Given the description of an element on the screen output the (x, y) to click on. 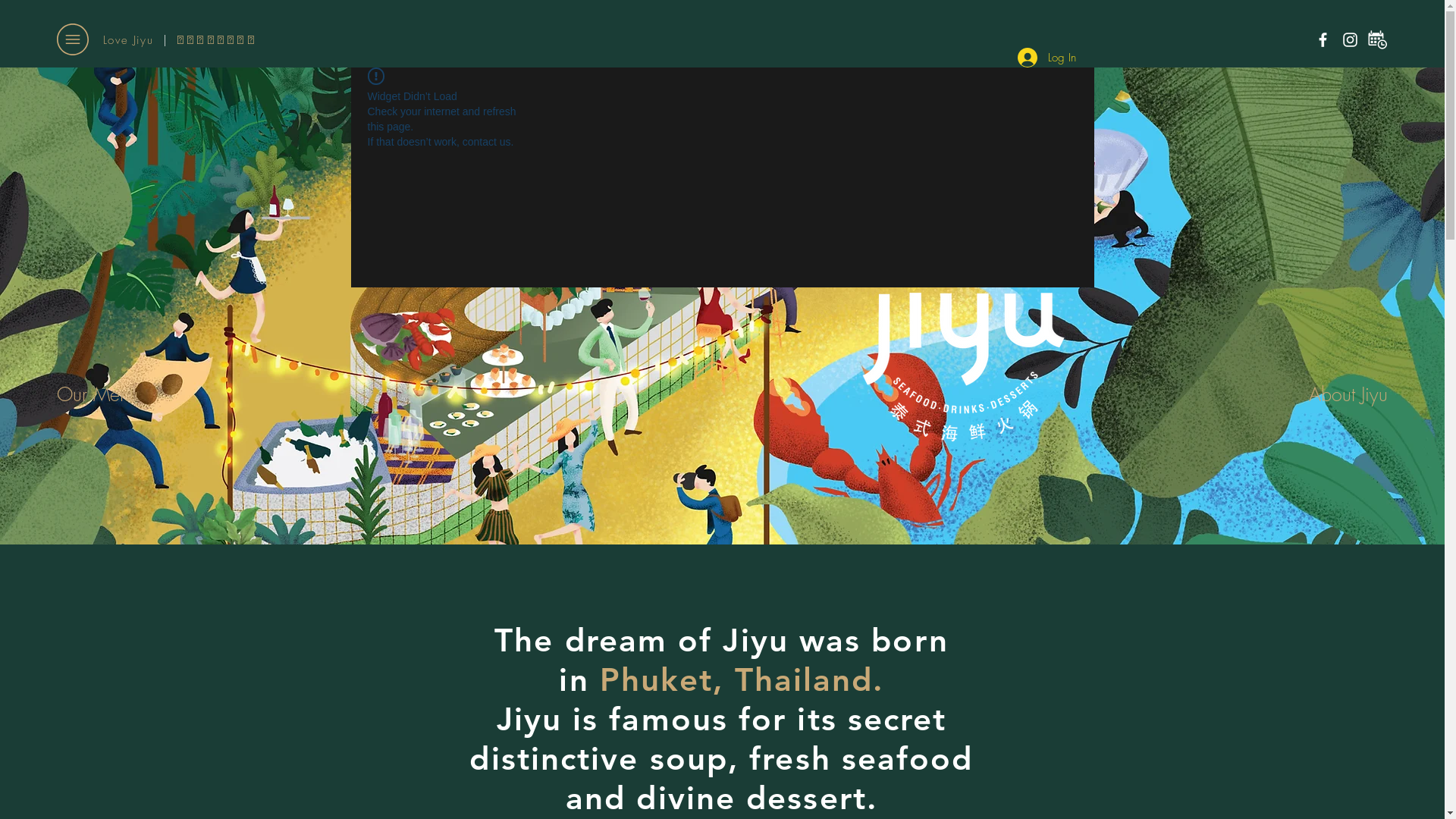
Love Jiyu   Element type: text (133, 39)
   Element type: text (172, 39)
Our Menu Element type: text (106, 394)
Log In Element type: text (1046, 57)
| Element type: text (165, 39)
About Jiyu Element type: text (1327, 394)
